Given the description of an element on the screen output the (x, y) to click on. 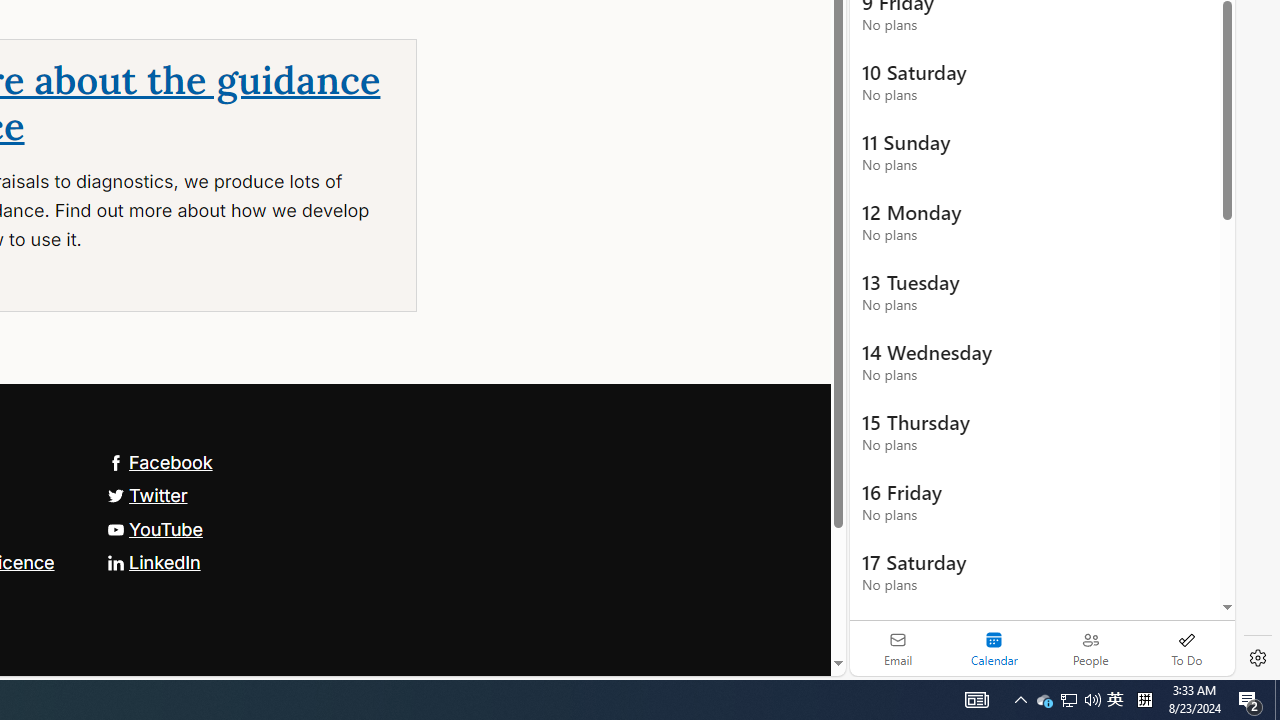
Facebook (159, 461)
